Given the description of an element on the screen output the (x, y) to click on. 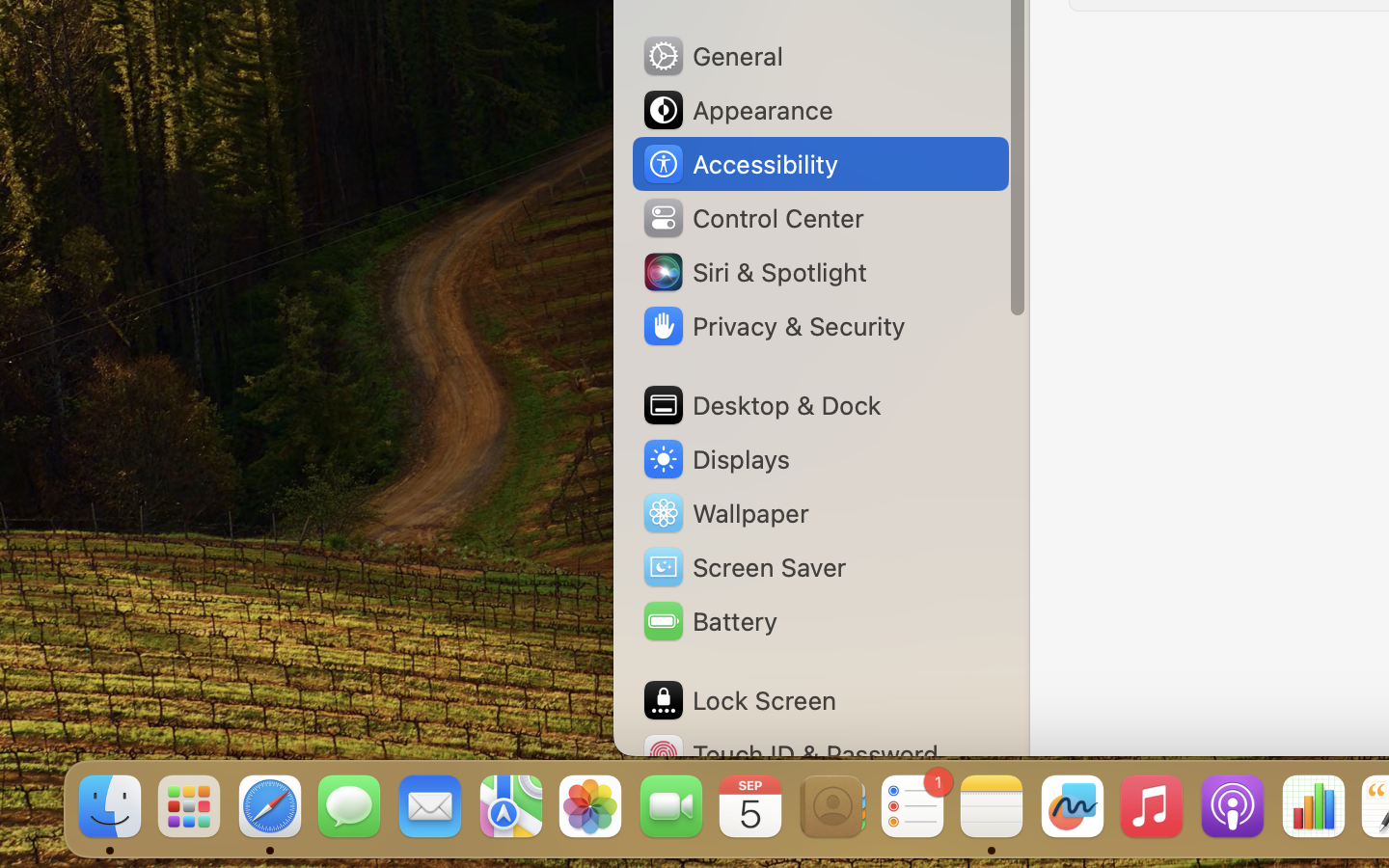
General Element type: AXStaticText (711, 55)
Screen Saver Element type: AXStaticText (743, 566)
Battery Element type: AXStaticText (708, 620)
